Given the description of an element on the screen output the (x, y) to click on. 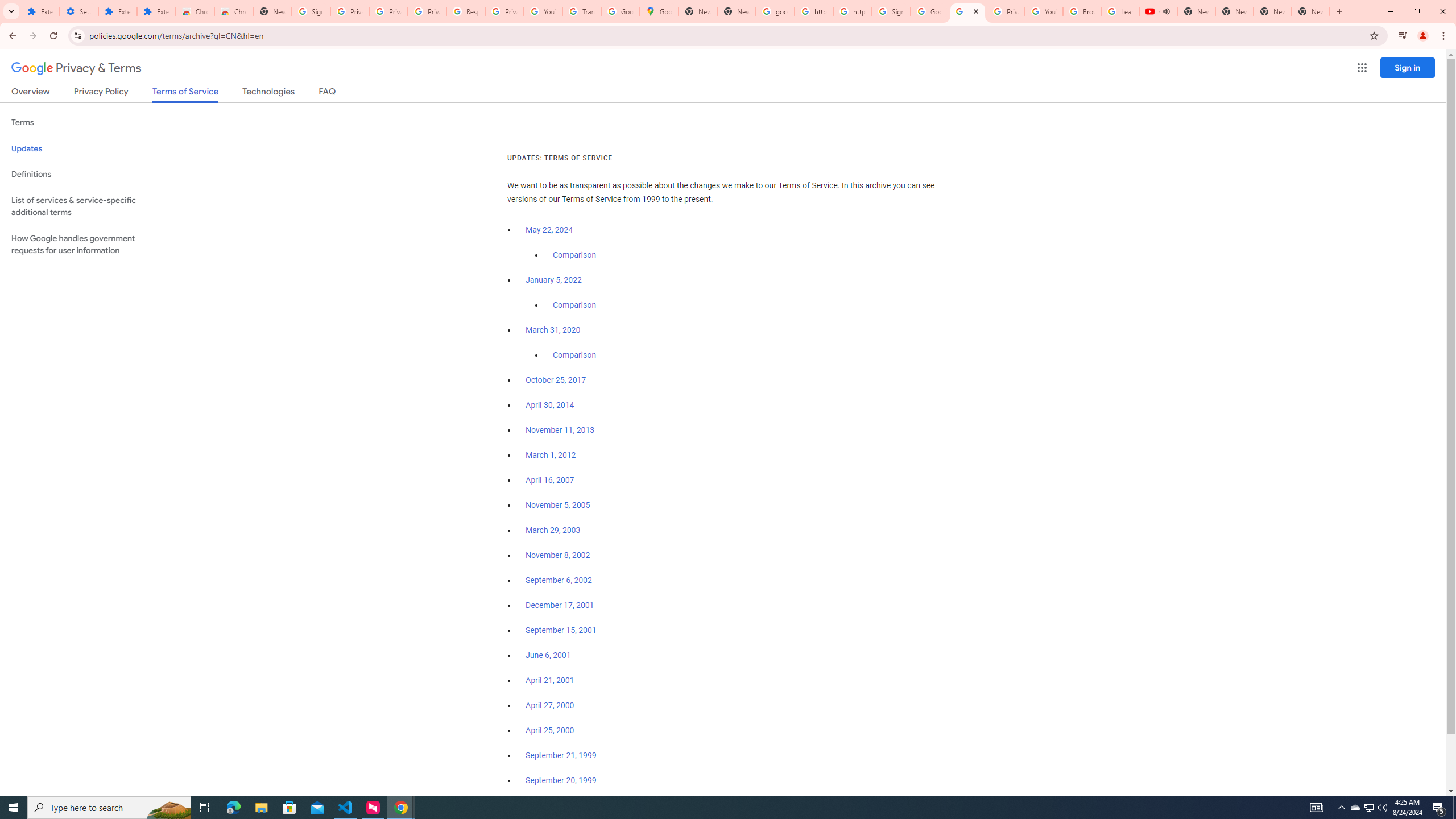
September 20, 1999 (560, 780)
January 5, 2022 (553, 280)
March 31, 2020 (552, 330)
Extensions (40, 11)
New Tab (1311, 11)
Definitions (86, 174)
November 11, 2013 (560, 430)
Chrome Web Store - Themes (233, 11)
November 5, 2005 (557, 505)
